Given the description of an element on the screen output the (x, y) to click on. 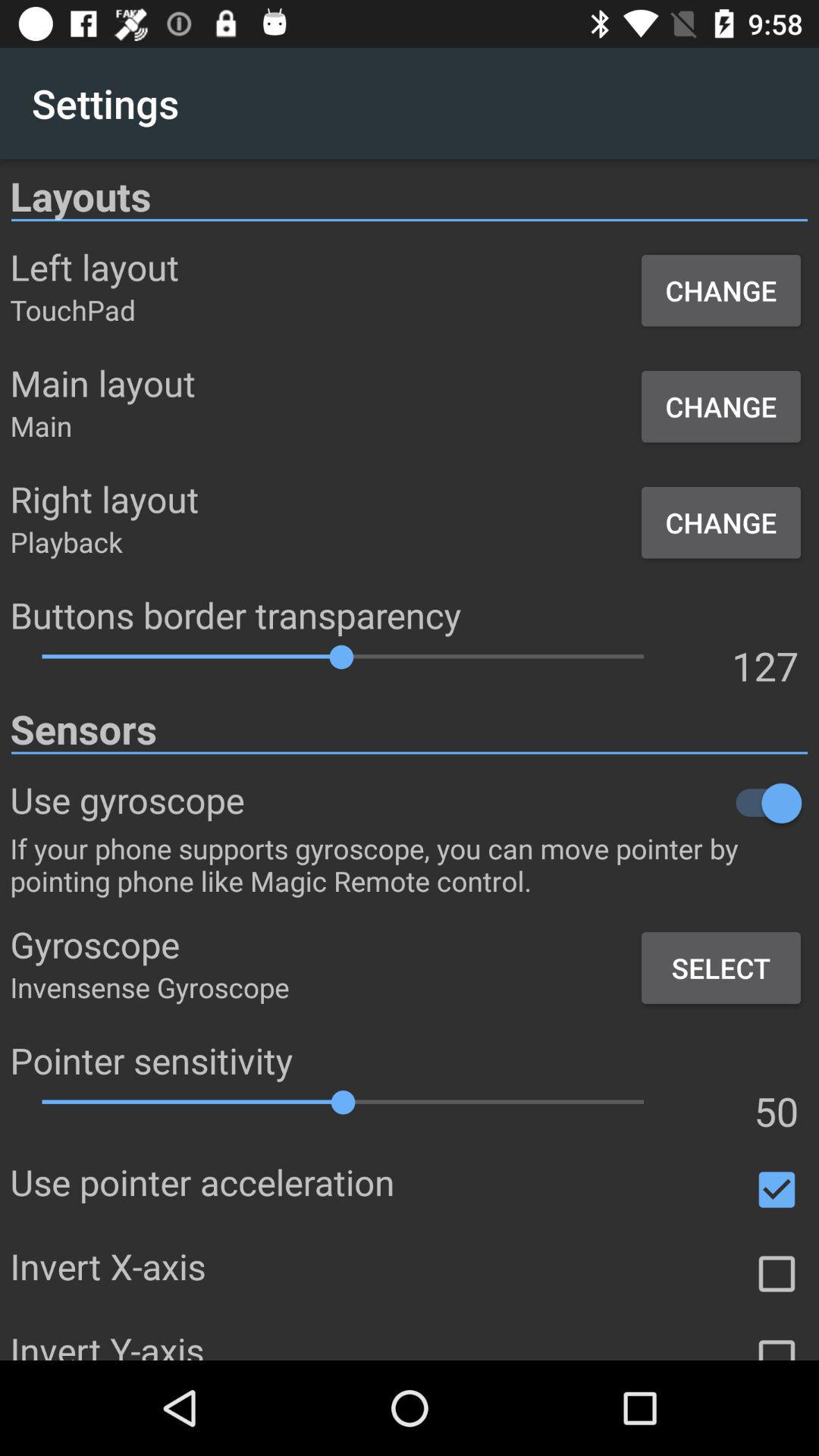
click the item below the sensors icon (526, 802)
